Given the description of an element on the screen output the (x, y) to click on. 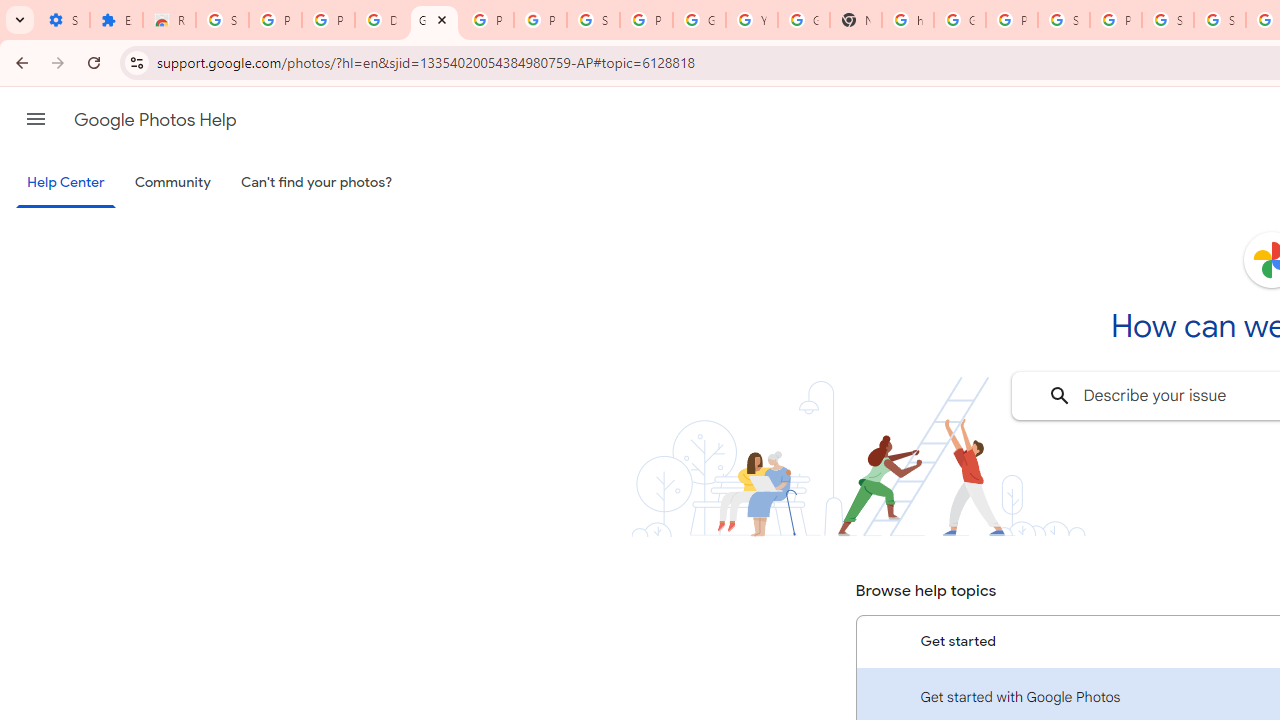
Help Center (65, 183)
Community (171, 183)
Delete photos & videos - Computer - Google Photos Help (381, 20)
Sign in - Google Accounts (1064, 20)
Sign in - Google Accounts (1167, 20)
https://scholar.google.com/ (907, 20)
Settings - On startup (63, 20)
Search (1059, 395)
